Given the description of an element on the screen output the (x, y) to click on. 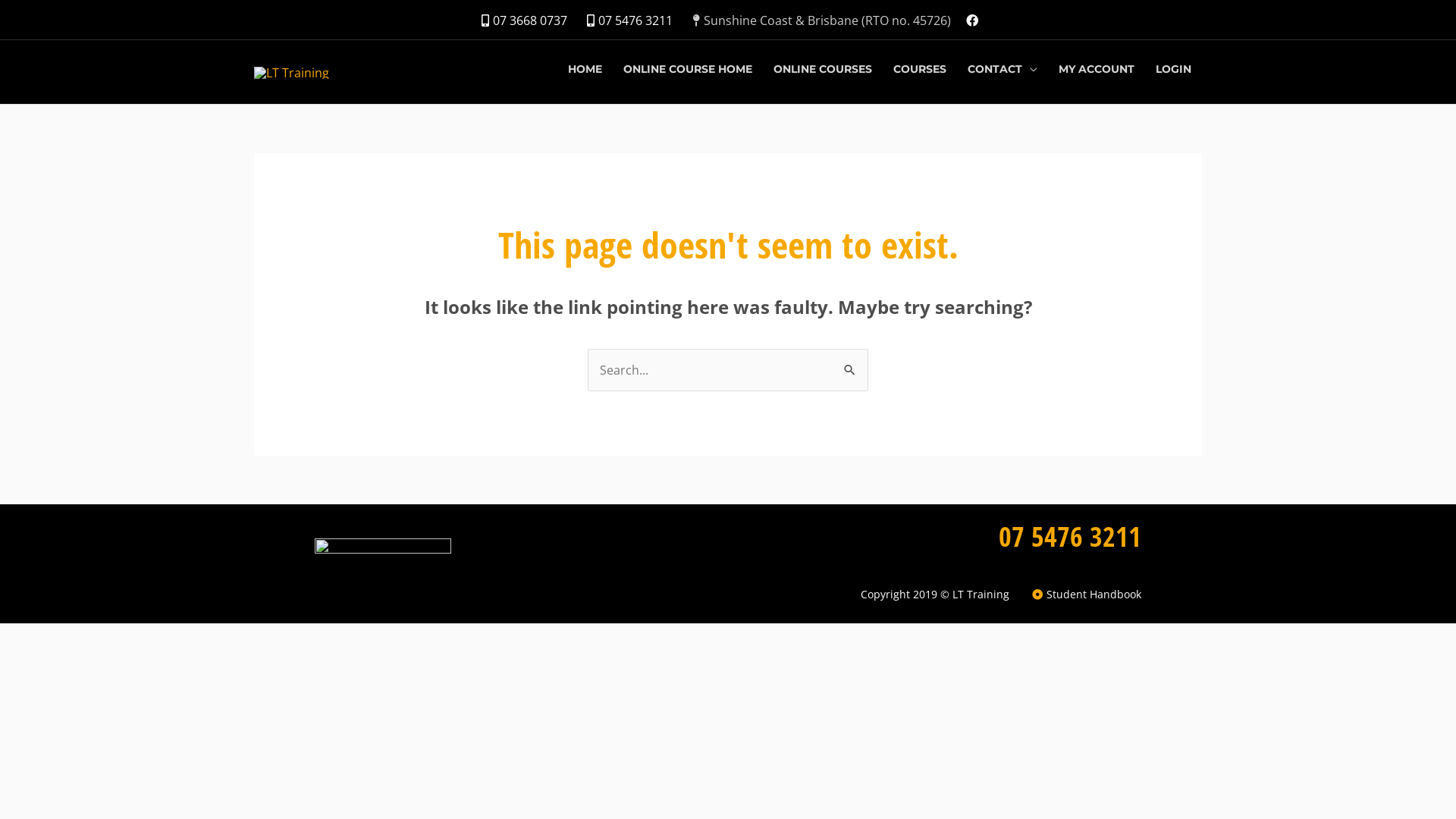
CONTACT Element type: text (1002, 68)
Search Element type: text (851, 369)
LOGIN Element type: text (1173, 68)
MY ACCOUNT Element type: text (1096, 68)
COURSES Element type: text (919, 68)
Student Handbook Element type: text (1085, 594)
HOME Element type: text (584, 68)
07 3668 0737 Element type: text (520, 20)
07 5476 3211 Element type: text (625, 20)
07 5476 3211 Element type: text (1069, 536)
ONLINE COURSE HOME Element type: text (687, 68)
ONLINE COURSES Element type: text (822, 68)
